Given the description of an element on the screen output the (x, y) to click on. 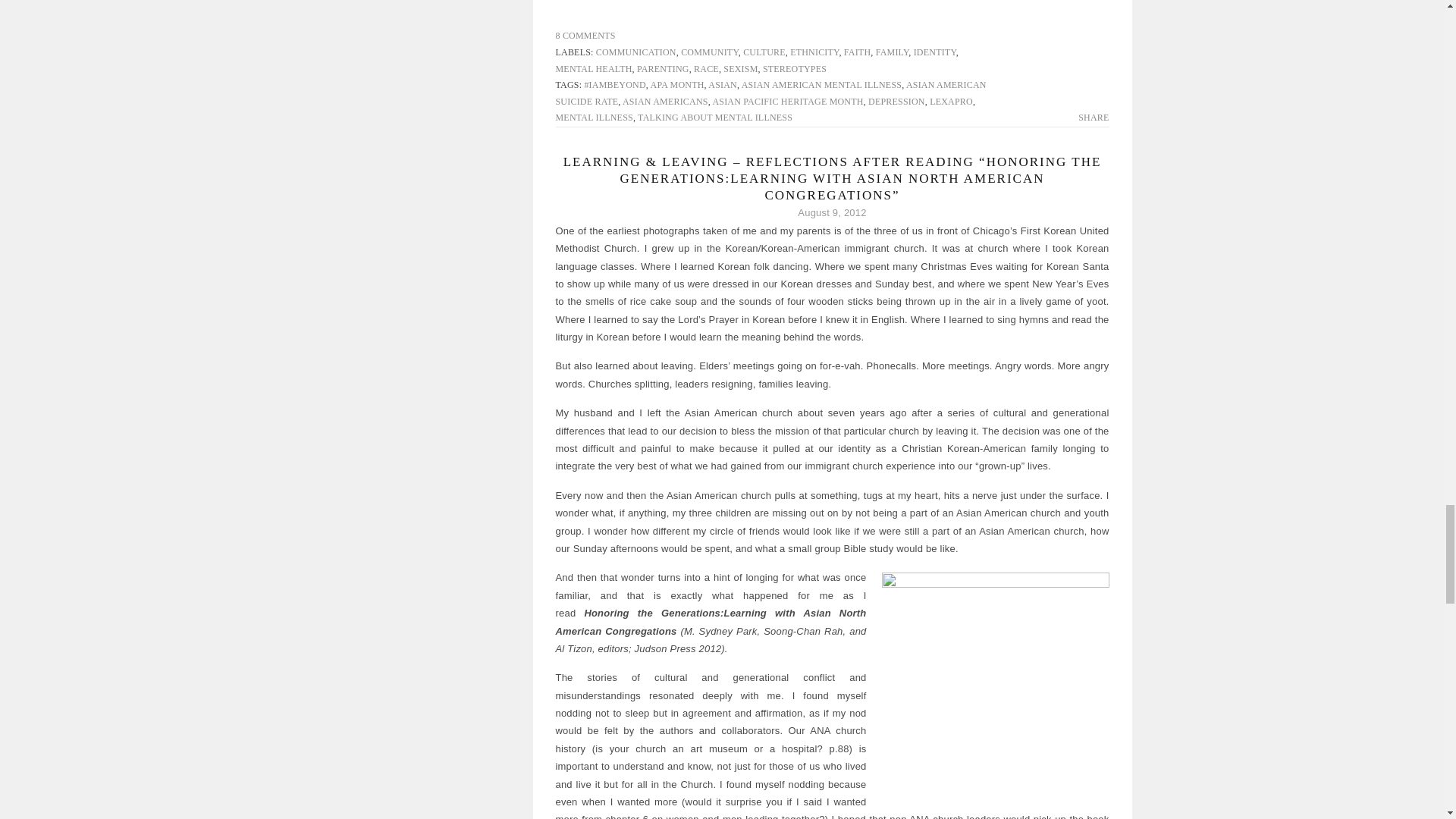
Honoring the Generations (994, 686)
